Given the description of an element on the screen output the (x, y) to click on. 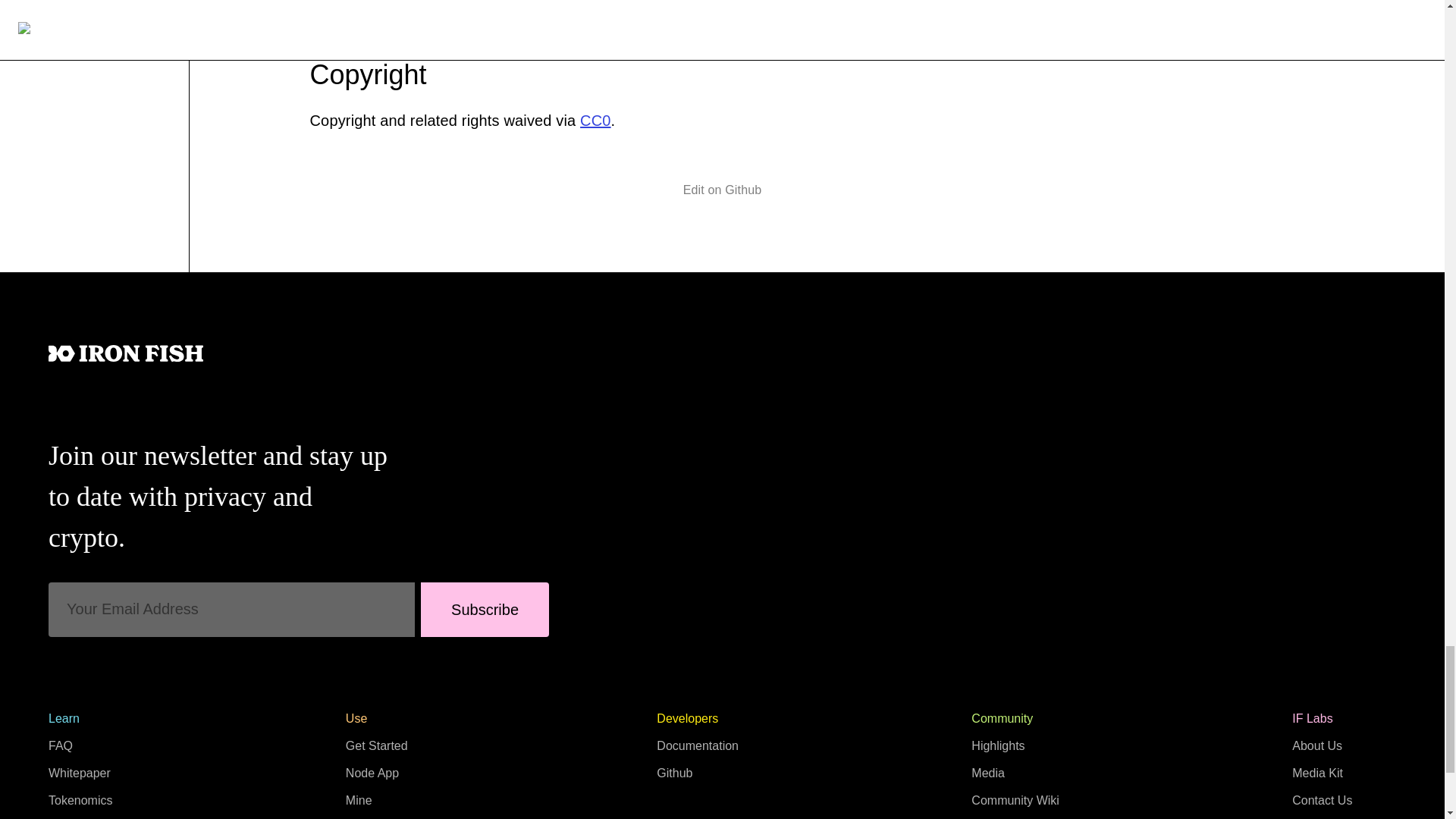
Documentation (697, 745)
Community Wiki (1015, 799)
Tokenomics (80, 799)
About Us (1317, 745)
CC0 (595, 120)
Github (674, 772)
Edit on Github (721, 189)
Highlights (998, 745)
Media (987, 772)
FAQ (60, 745)
